Given the description of an element on the screen output the (x, y) to click on. 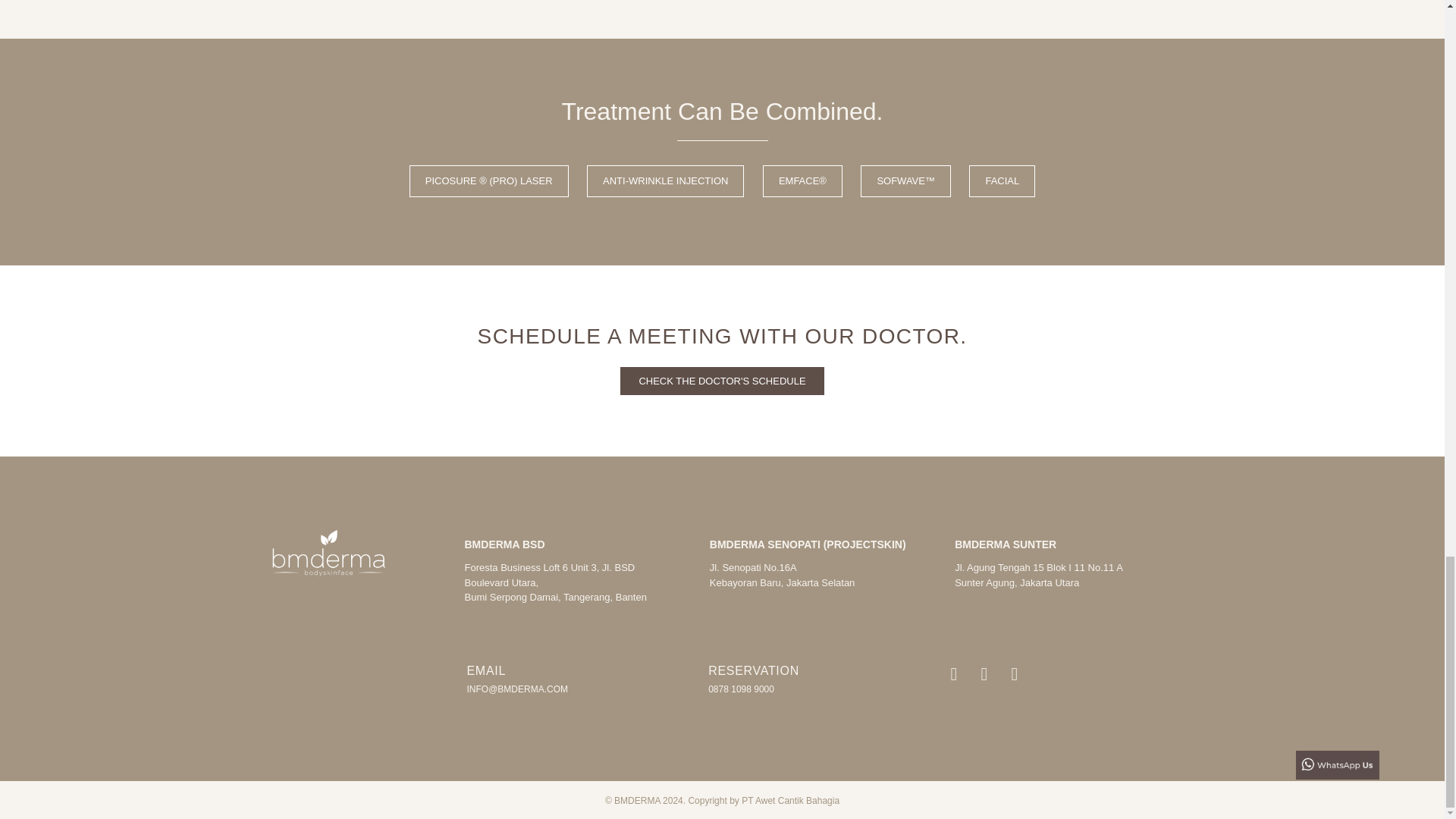
FACIAL (1002, 181)
ANTI-WRINKLE INJECTION (665, 181)
CHECK THE DOCTOR'S SCHEDULE (722, 380)
